Given the description of an element on the screen output the (x, y) to click on. 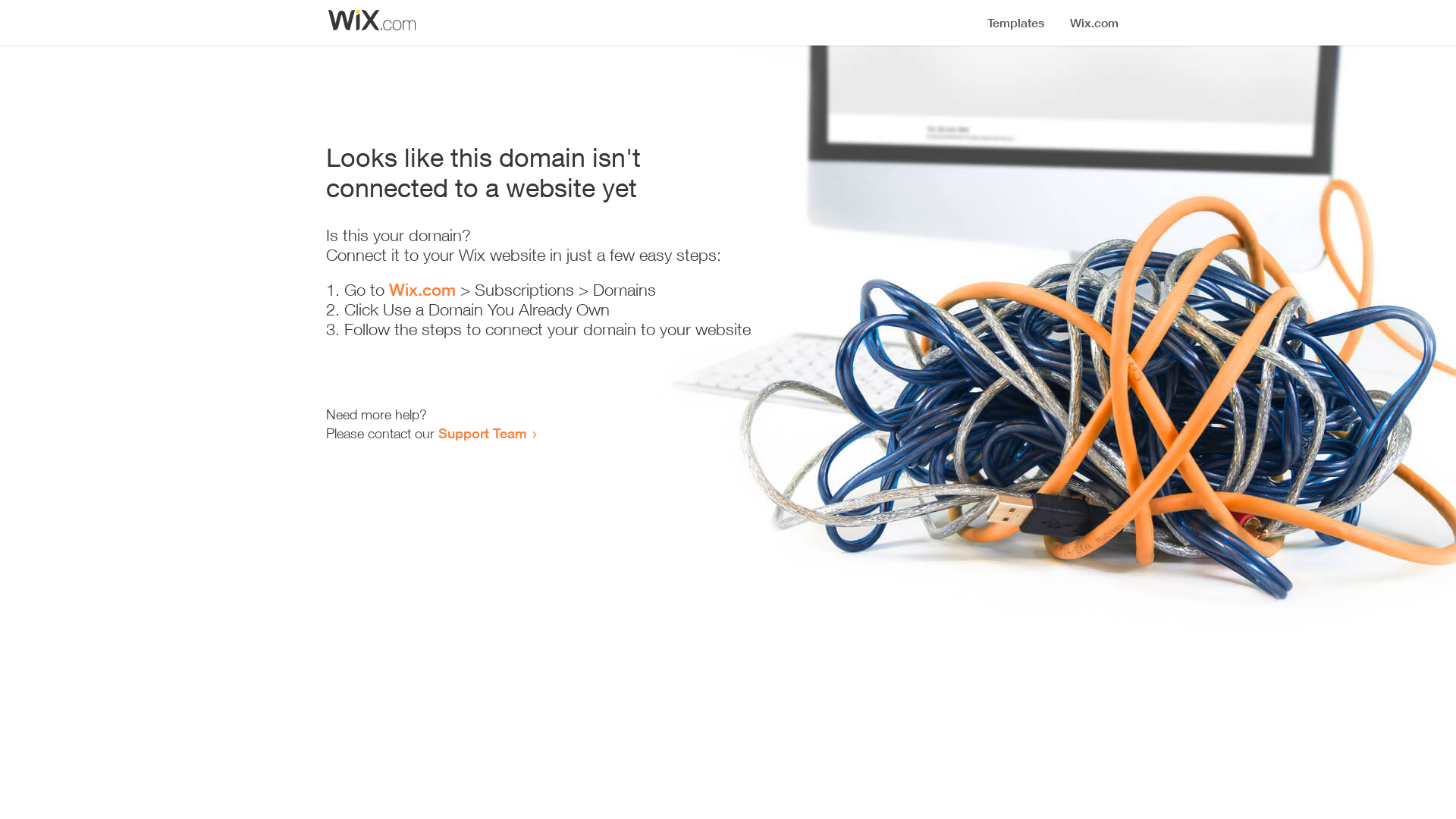
Support Team Element type: text (482, 432)
Wix.com Element type: text (422, 289)
